Given the description of an element on the screen output the (x, y) to click on. 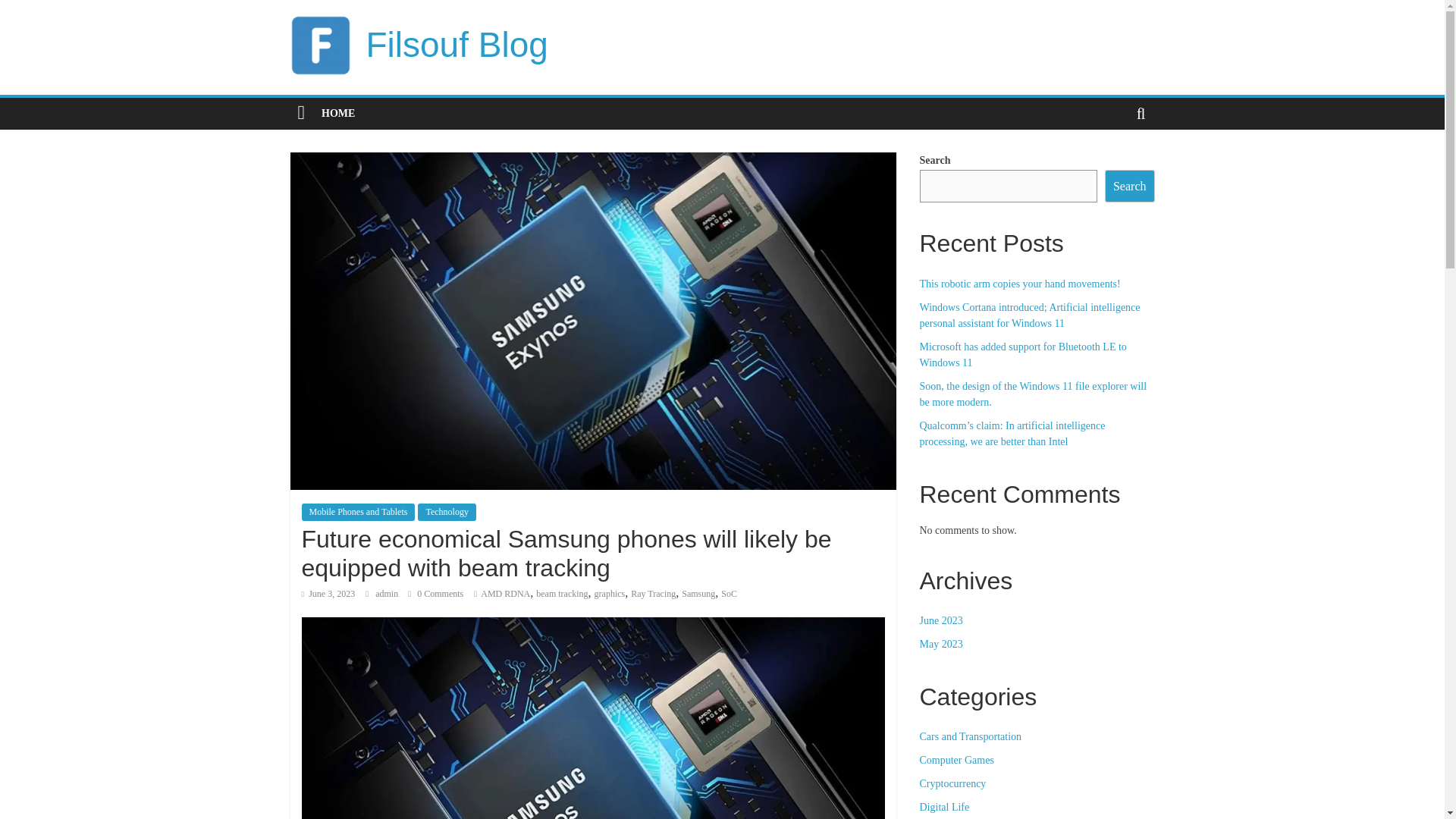
Mobile Phones and Tablets (357, 511)
June 3, 2023 (328, 593)
Ray Tracing (652, 593)
Filsouf Blog (456, 44)
8:13 pm (328, 593)
graphics (610, 593)
Search (1129, 186)
admin (387, 593)
0 Comments (435, 593)
AMD RDNA (504, 593)
Samsung (697, 593)
This robotic arm copies your hand movements! (1018, 283)
Technology (446, 511)
HOME (338, 113)
